Given the description of an element on the screen output the (x, y) to click on. 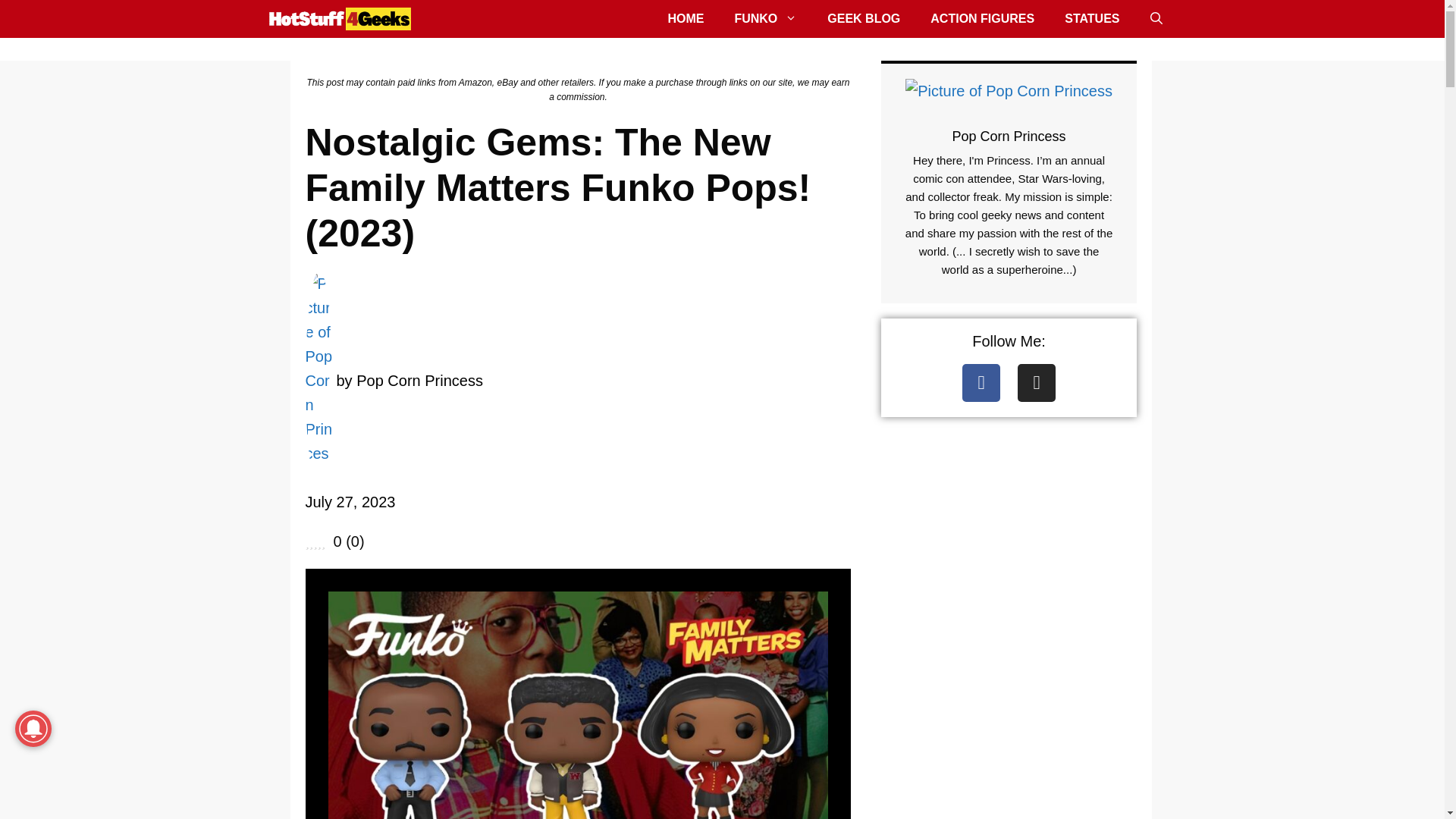
ACTION FIGURES (982, 18)
Hot Stuff 4 Geeks (339, 18)
HOME (685, 18)
FUNKO (765, 18)
STATUES (1091, 18)
GEEK BLOG (863, 18)
